Given the description of an element on the screen output the (x, y) to click on. 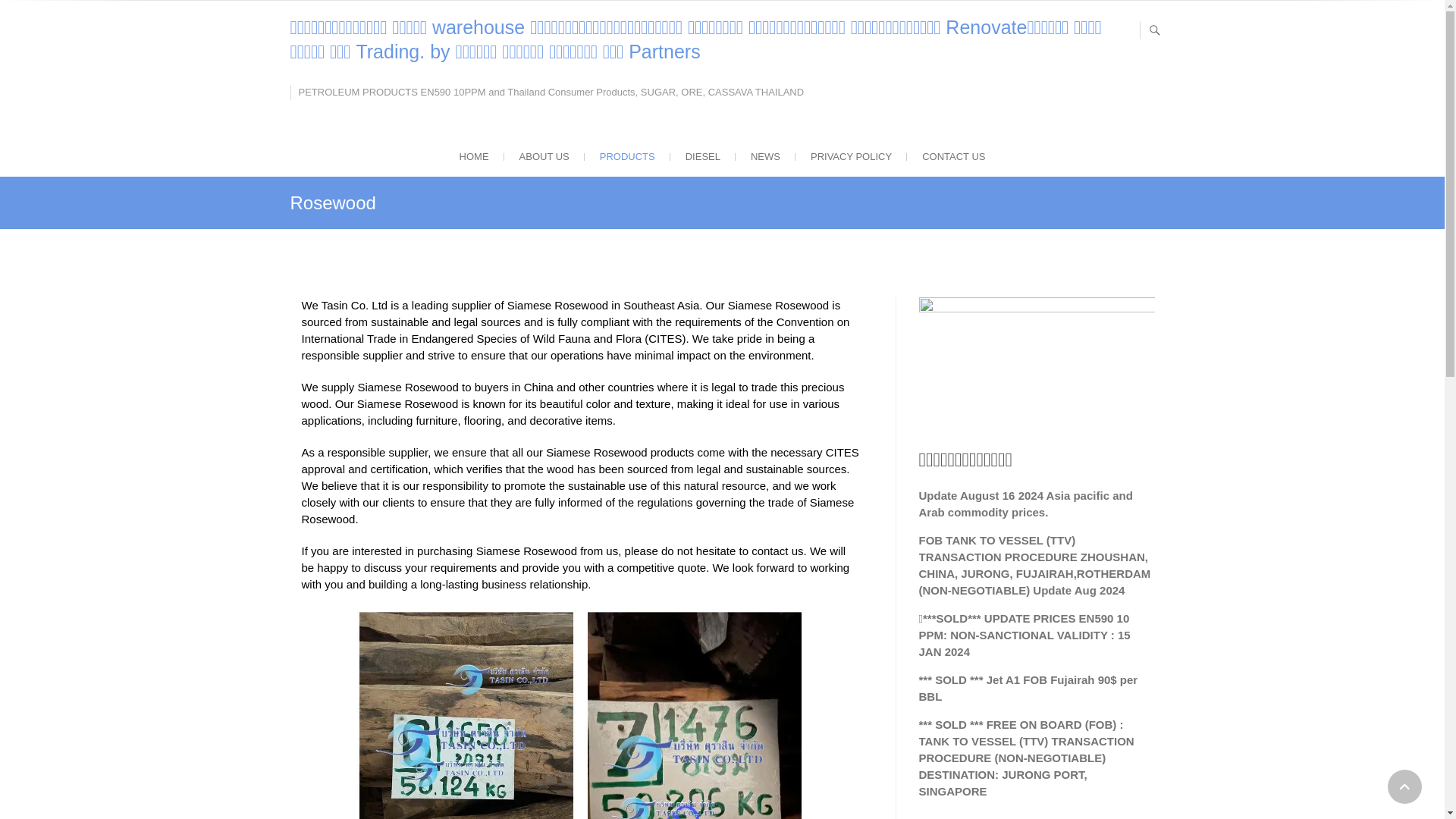
PRIVACY POLICY (850, 156)
PRODUCTS (627, 156)
CONTACT US (953, 156)
Go to Top (1404, 786)
DIESEL (702, 156)
HOME (473, 156)
ABOUT US (544, 156)
NEWS (764, 156)
